Given the description of an element on the screen output the (x, y) to click on. 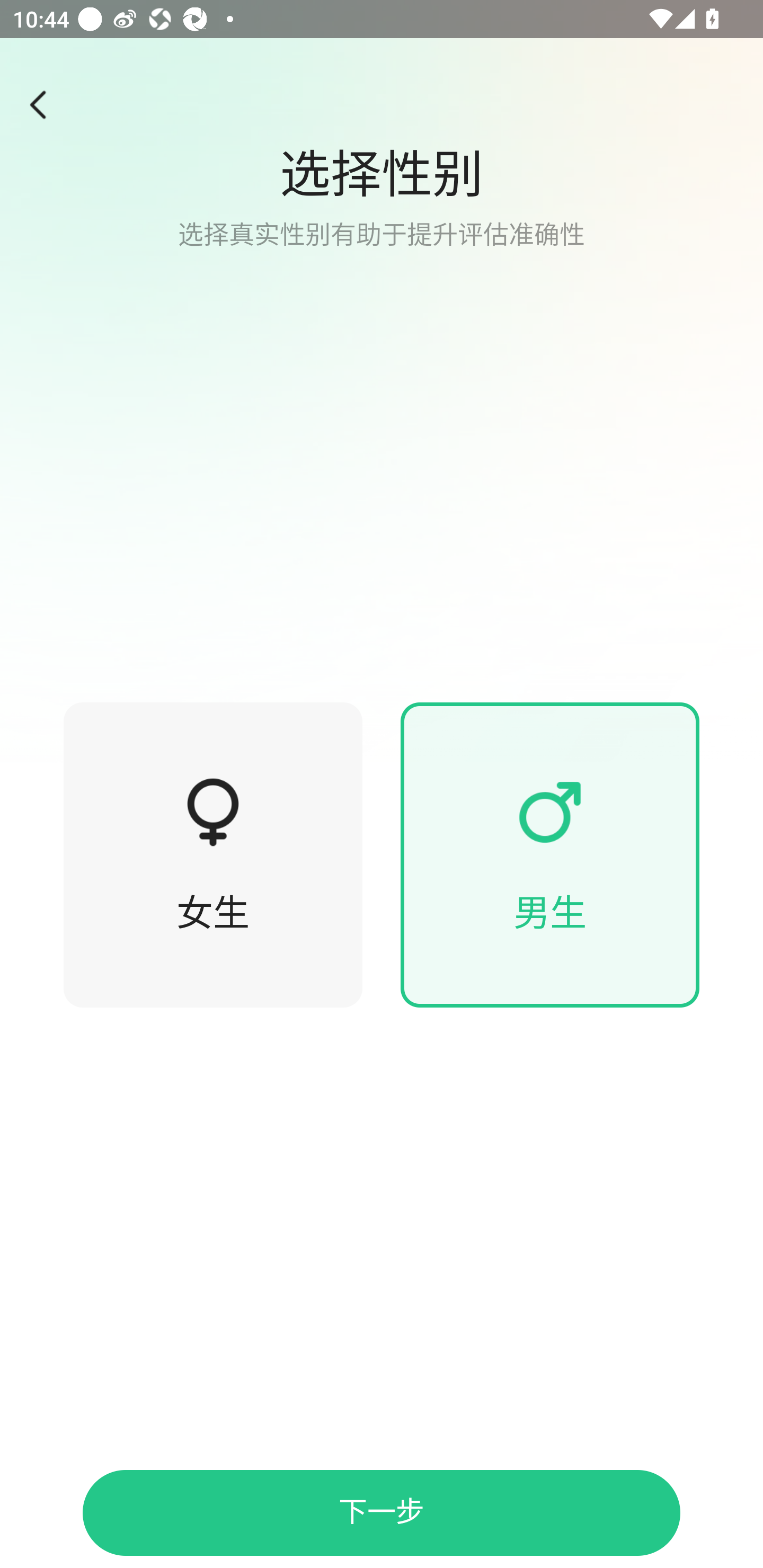
1 (381, 381)
1 (44, 104)
1 女生 (212, 855)
1 男生 (549, 855)
1 (212, 811)
1 (549, 811)
下一步 (381, 1512)
